Given the description of an element on the screen output the (x, y) to click on. 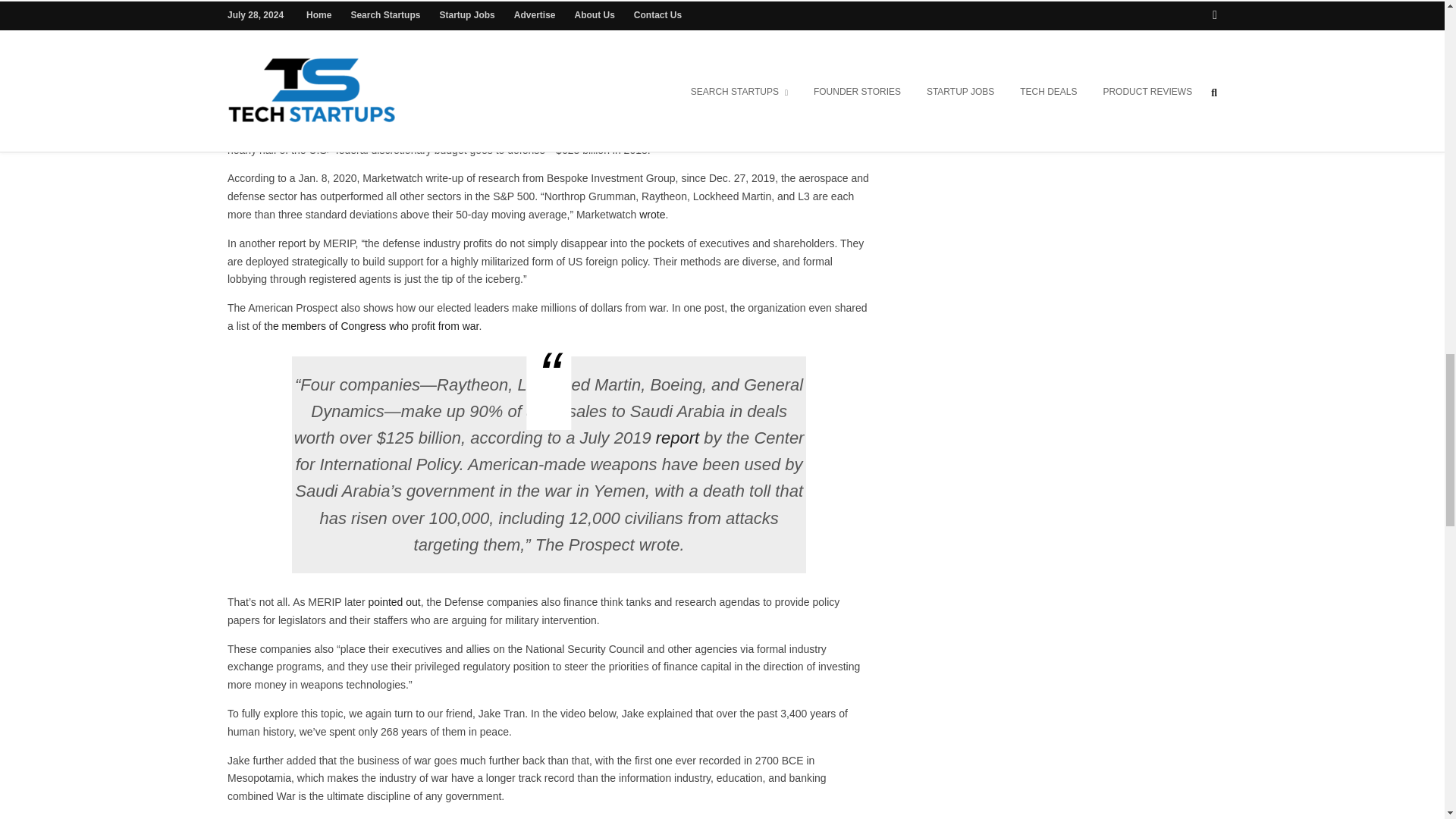
wrote (652, 214)
